Given the description of an element on the screen output the (x, y) to click on. 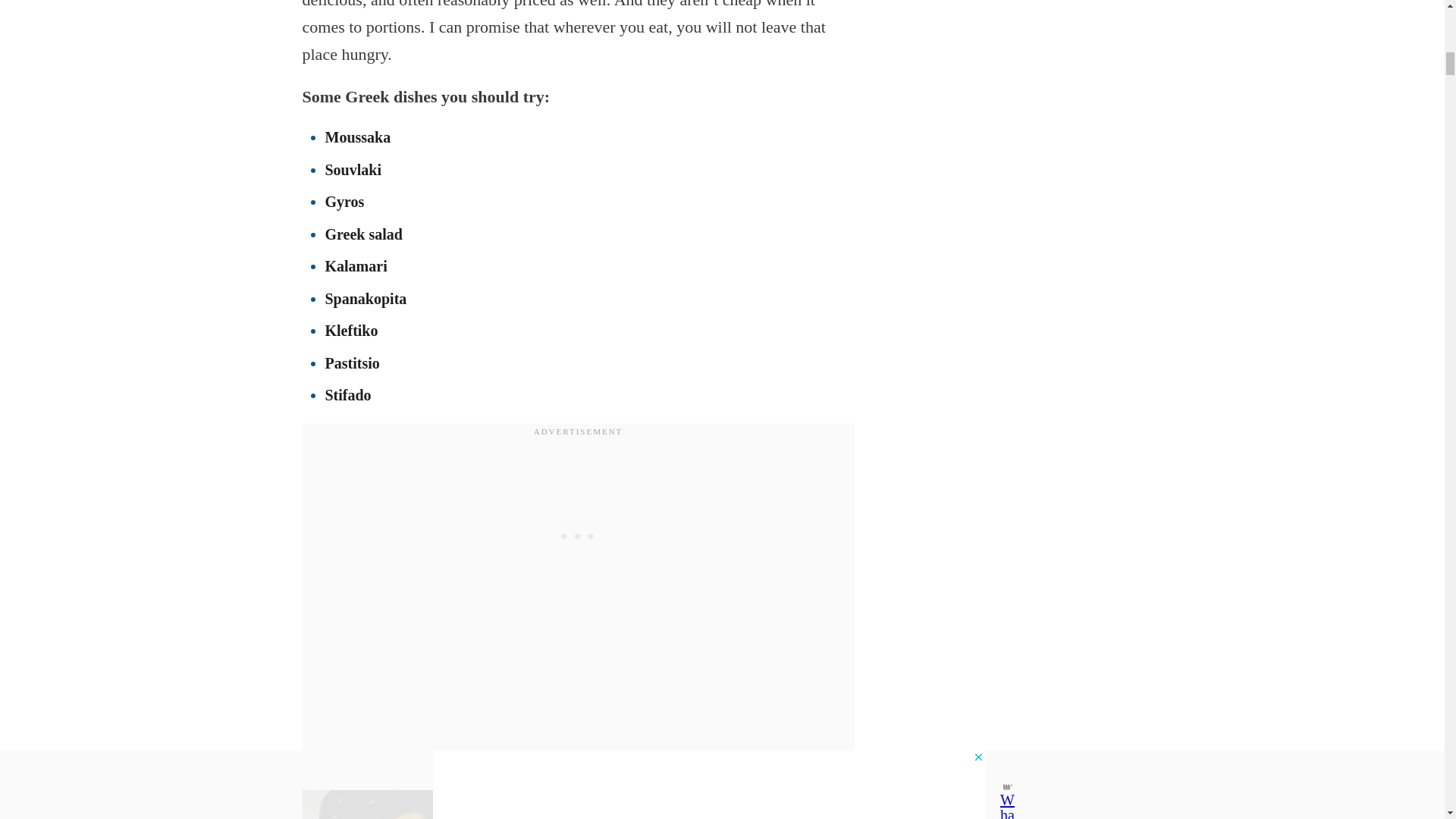
3rd party ad content (577, 535)
